Given the description of an element on the screen output the (x, y) to click on. 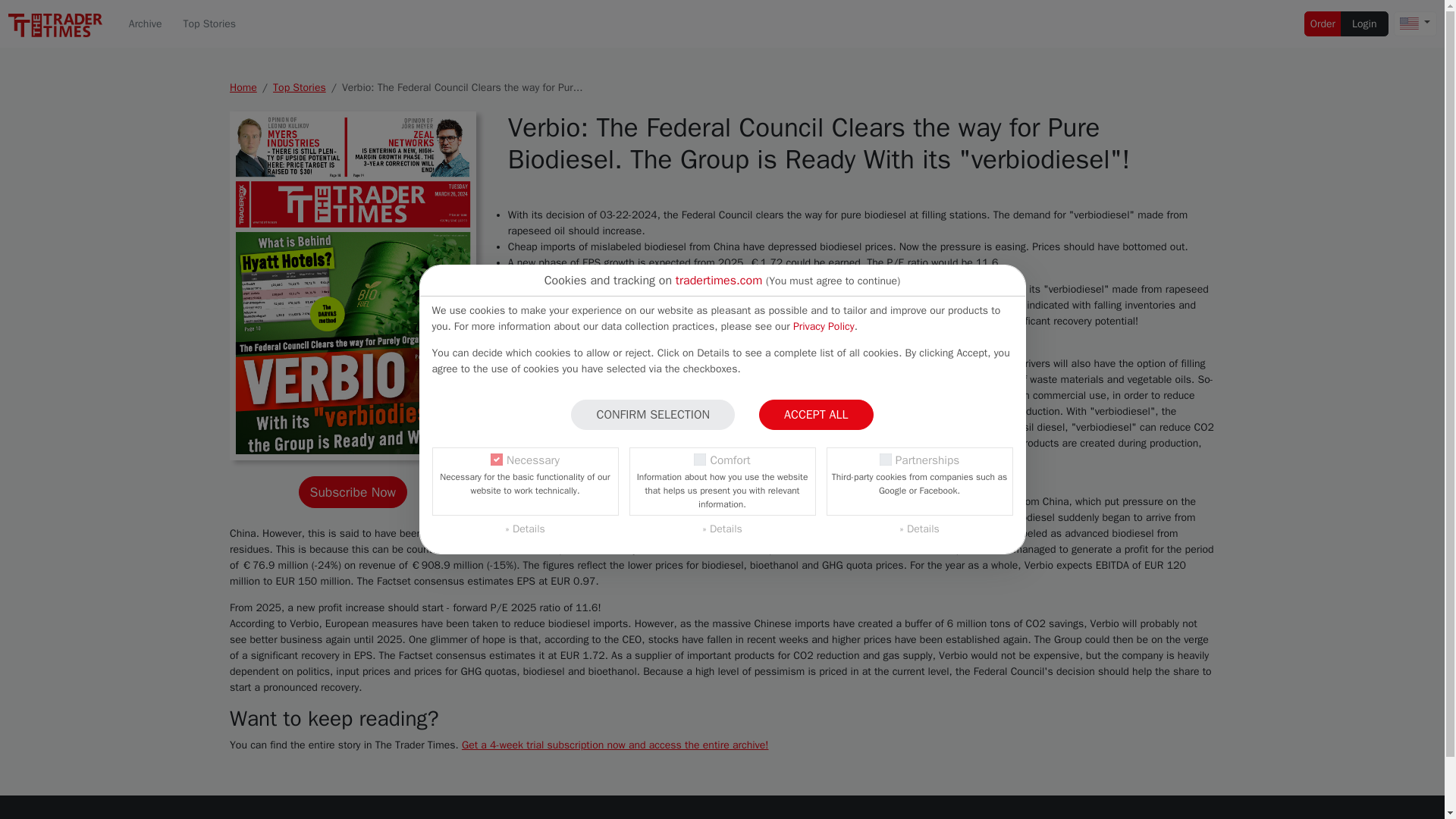
Login (1363, 23)
Order (1322, 23)
Trader Times (54, 24)
Top Stories (299, 87)
tradertimes.com (718, 280)
Privacy Policy (823, 326)
Home (243, 87)
Archive (145, 23)
CONFIRM SELECTION (652, 414)
ACCEPT ALL (815, 414)
Top Stories (209, 23)
Subscribe Now (352, 491)
English (1408, 23)
